Given the description of an element on the screen output the (x, y) to click on. 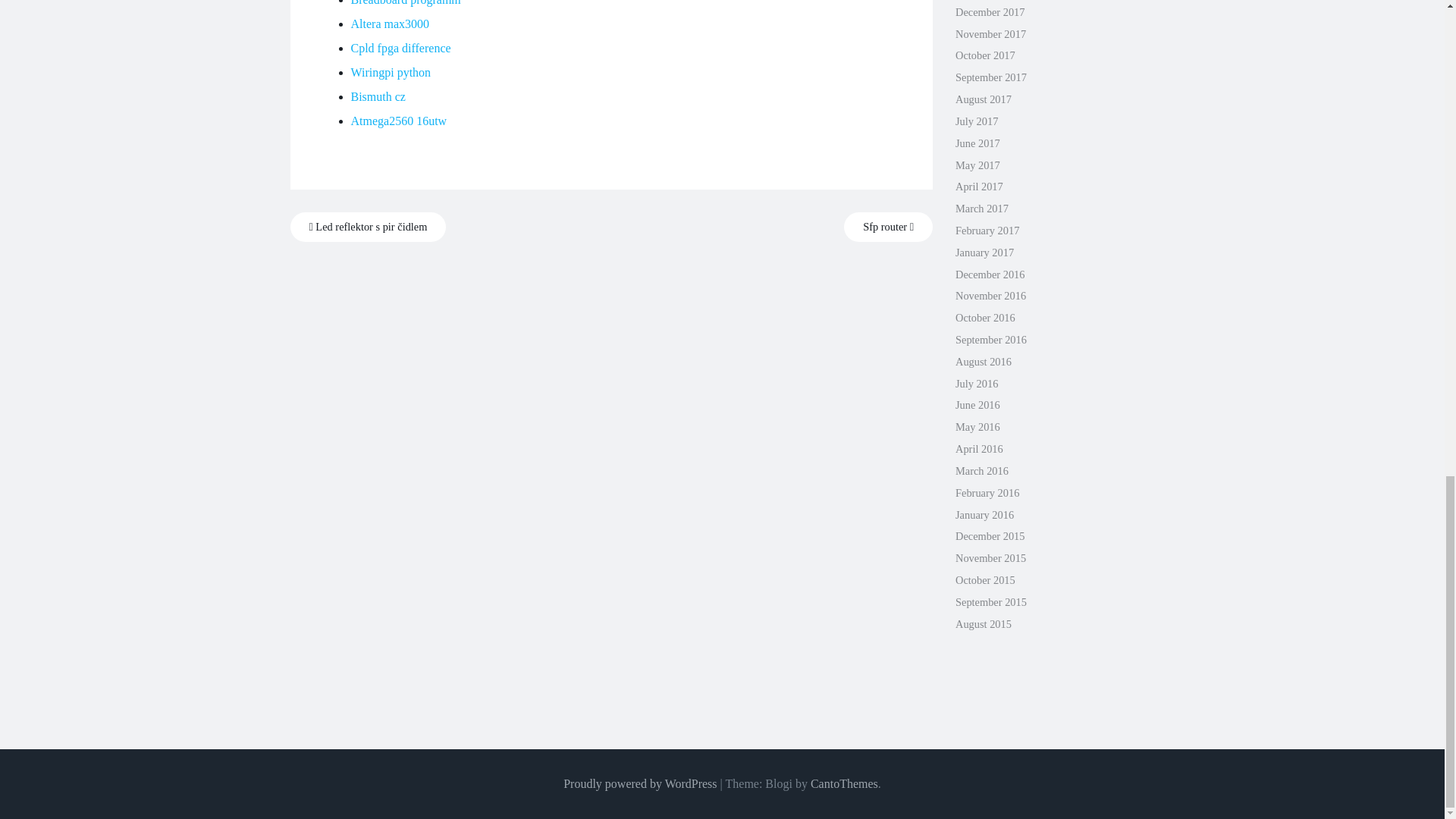
Atmega2560 16utw (398, 120)
Wiringpi python (390, 72)
Cpld fpga difference (399, 47)
Bismuth cz (377, 96)
Breadboard programm (405, 2)
Sfp router (888, 226)
Altera max3000 (389, 23)
